Given the description of an element on the screen output the (x, y) to click on. 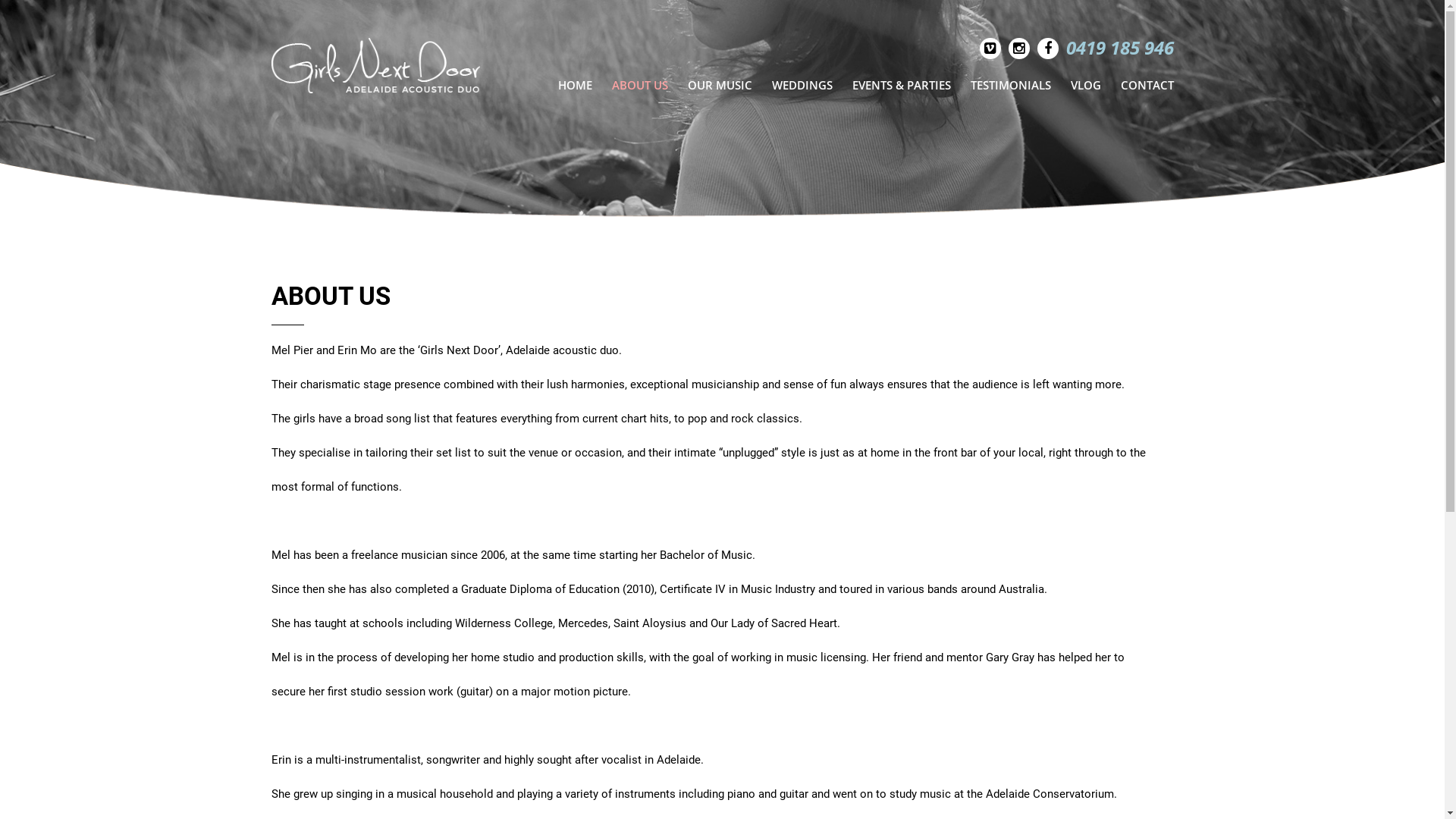
OUR MUSIC Element type: text (719, 84)
ABOUT US Element type: text (639, 84)
WEDDINGS Element type: text (801, 84)
VLOG Element type: text (1085, 84)
CONTACT Element type: text (1141, 84)
HOME Element type: text (574, 84)
TESTIMONIALS Element type: text (1010, 84)
EVENTS & PARTIES Element type: text (900, 84)
0419 185 946 Element type: text (1119, 46)
